Given the description of an element on the screen output the (x, y) to click on. 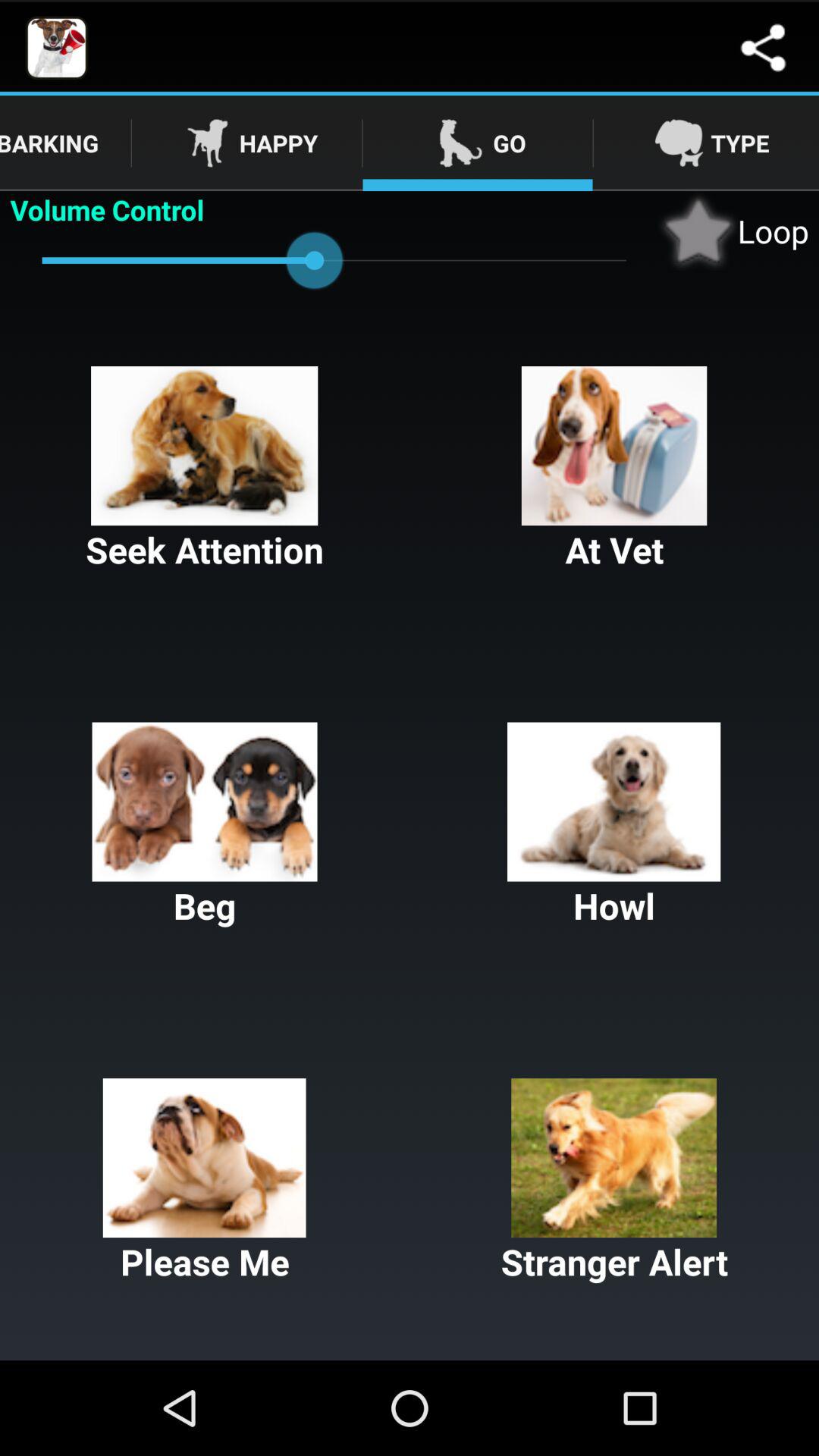
choose the icon above the at vet item (733, 230)
